Given the description of an element on the screen output the (x, y) to click on. 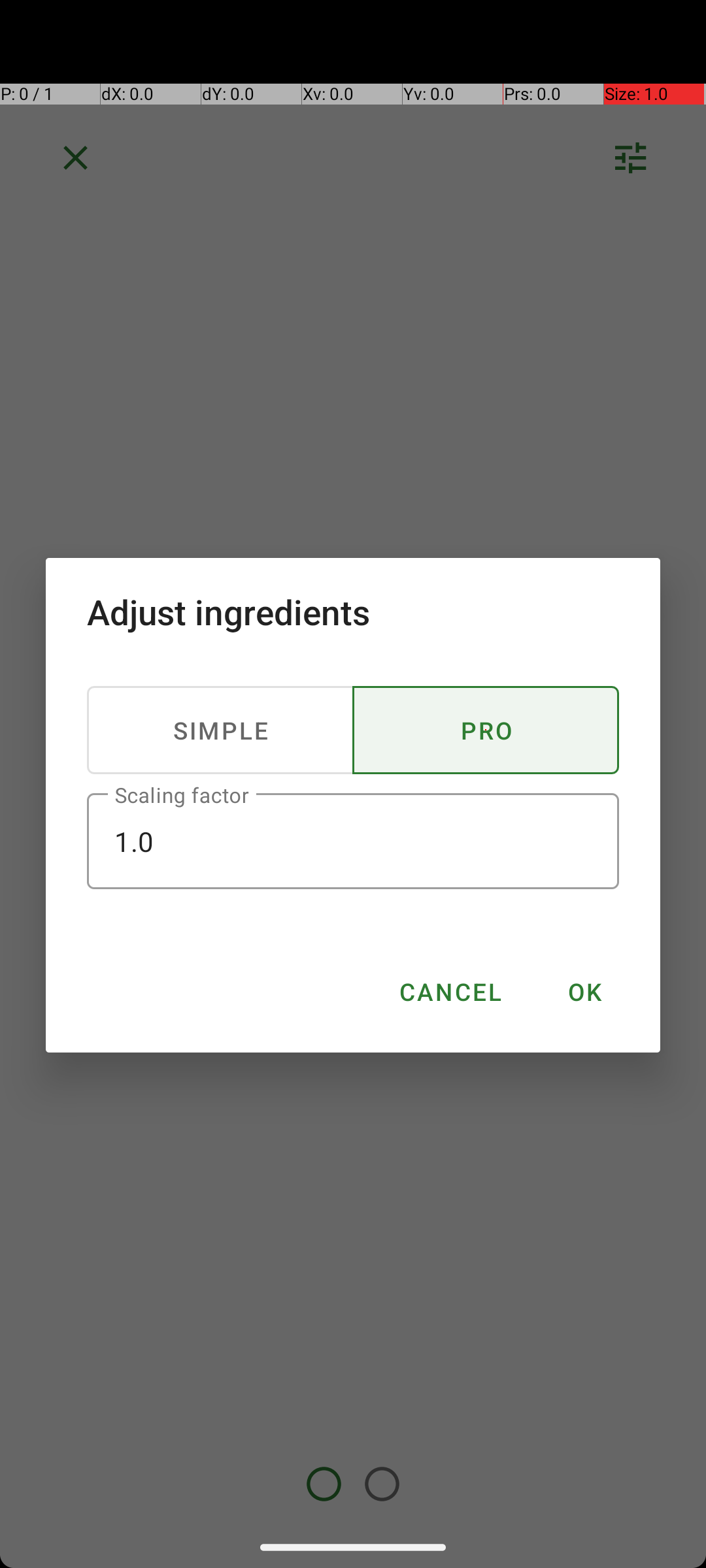
1.0 Element type: android.widget.EditText (352, 841)
